Given the description of an element on the screen output the (x, y) to click on. 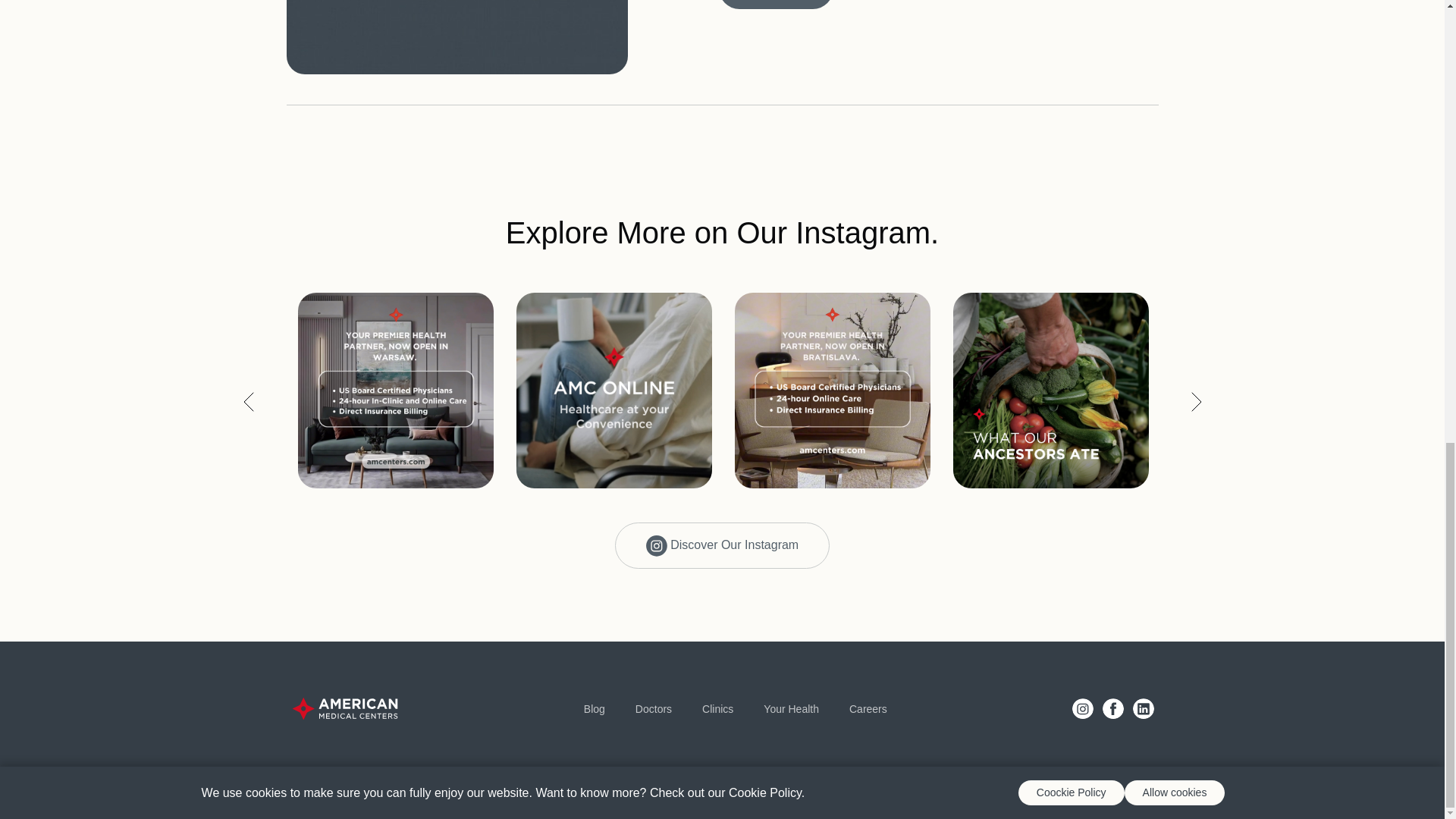
Download (775, 4)
Previous (248, 401)
